Given the description of an element on the screen output the (x, y) to click on. 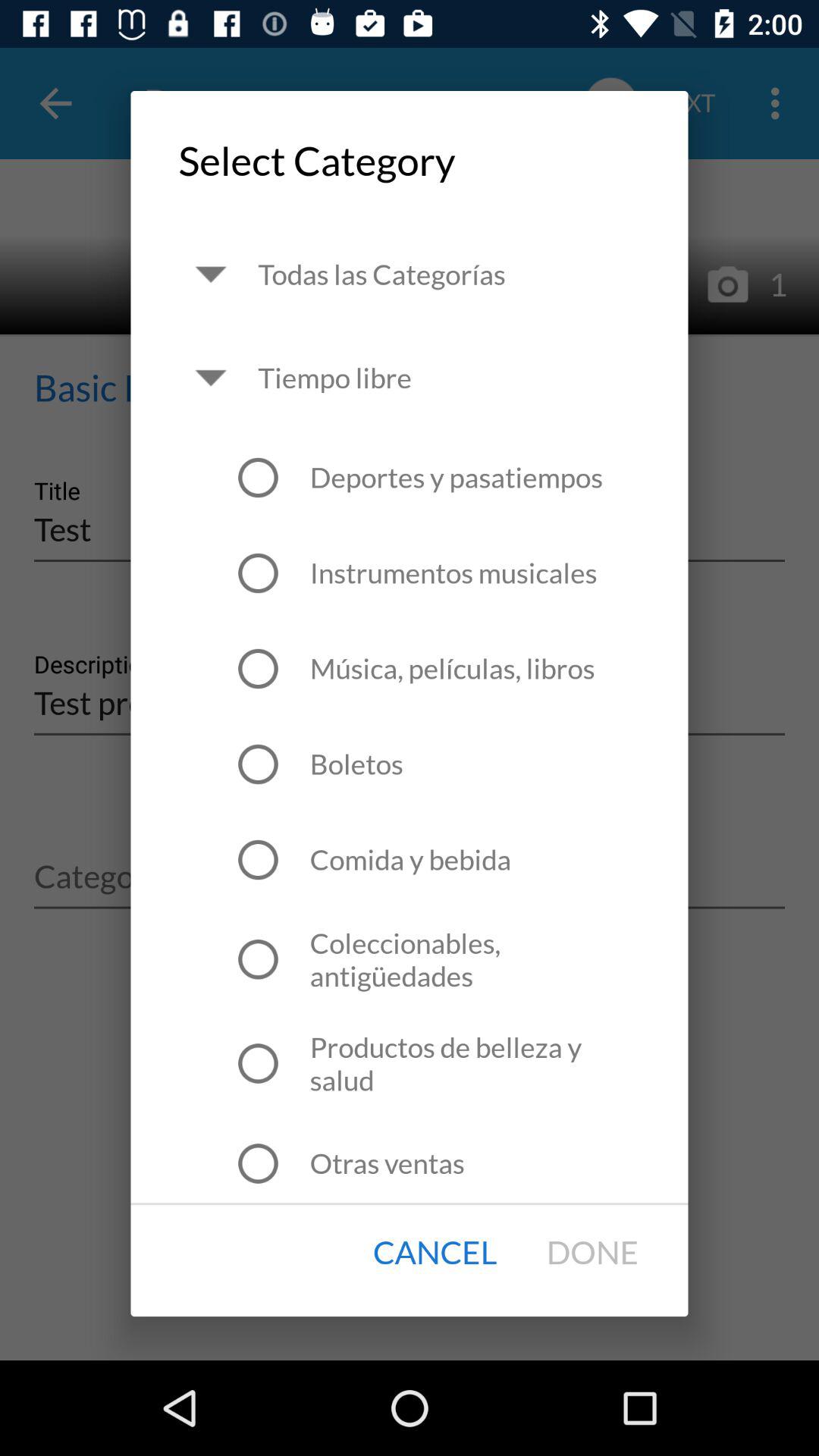
select the icon below deportes y pasatiempos icon (453, 572)
